Given the description of an element on the screen output the (x, y) to click on. 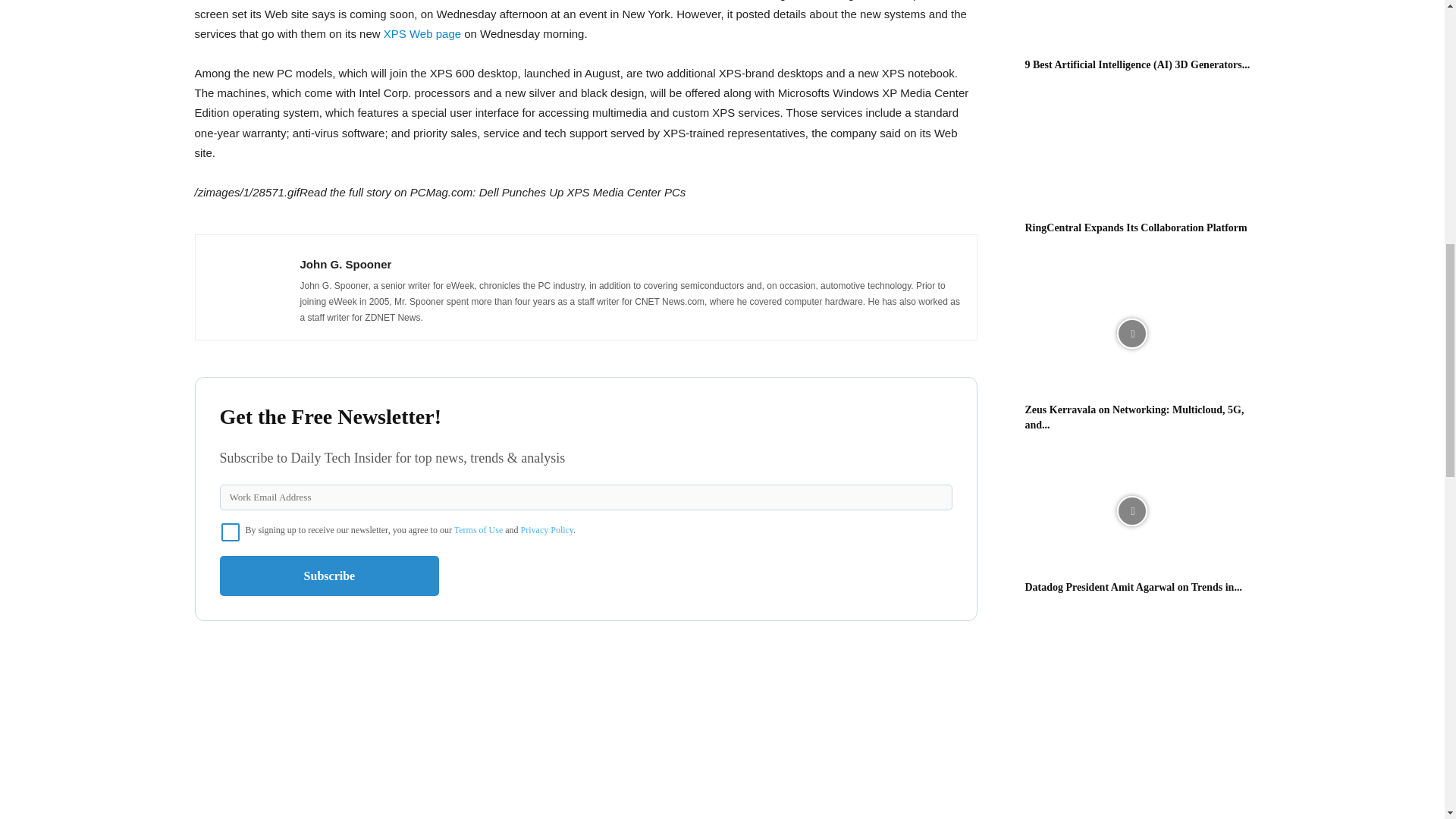
Zeus Kerravala on Networking: Multicloud, 5G, and Automation (1131, 333)
RingCentral Expands Its Collaboration Platform (1131, 151)
Zeus Kerravala on Networking: Multicloud, 5G, and Automation (1134, 417)
on (230, 532)
RingCentral Expands Its Collaboration Platform (1136, 227)
